Given the description of an element on the screen output the (x, y) to click on. 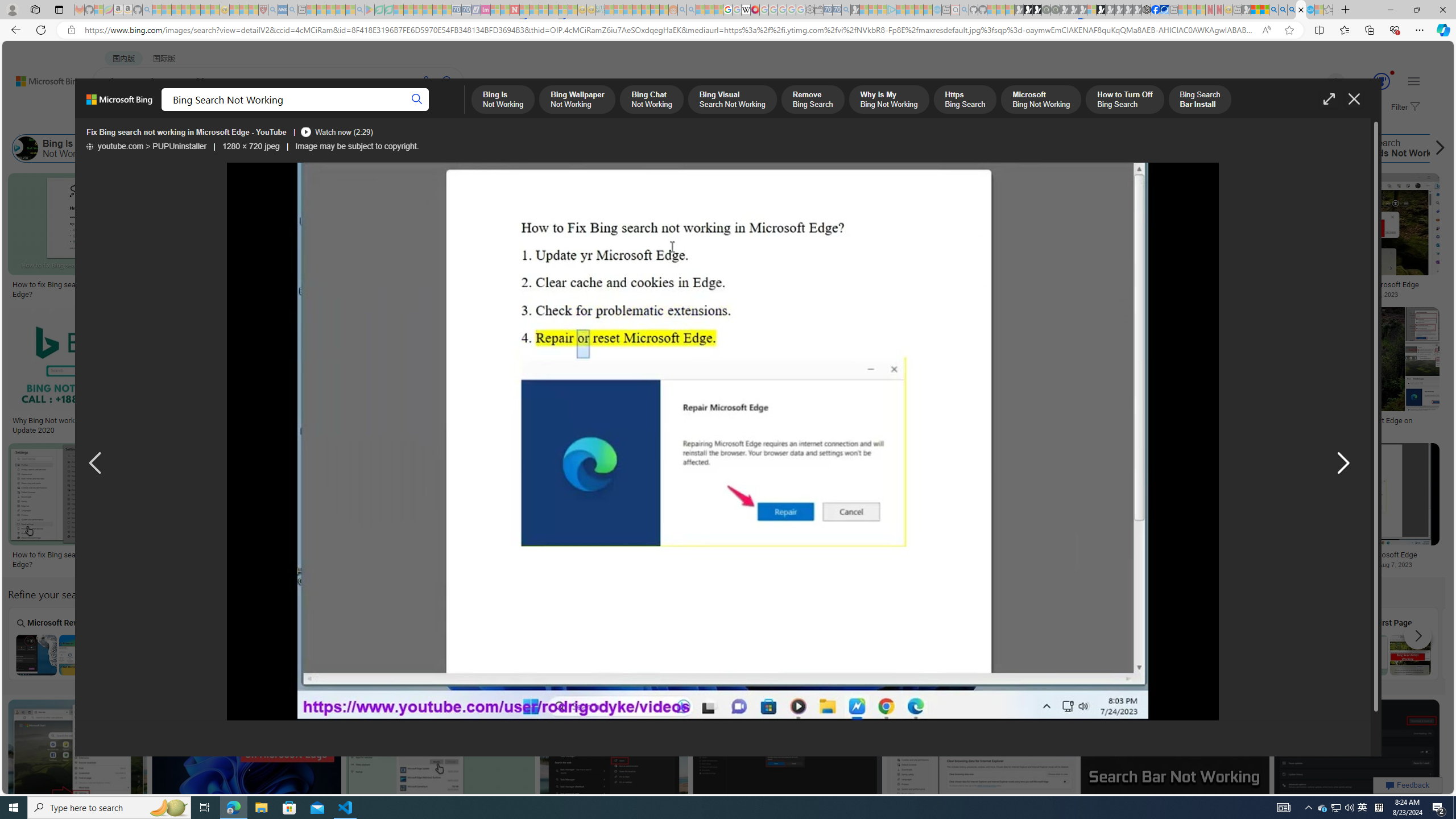
Bing Search Points Not Working Points (467, 643)
Why Bing Not working on windows 10? Update 2020 (77, 425)
Terms of Use Agreement - Sleeping (378, 9)
3:53 (169, 317)
Fix Bing Search Not Working In Microsoft Edge (1350, 284)
Class: b_pri_nav_svg (240, 112)
